Given the description of an element on the screen output the (x, y) to click on. 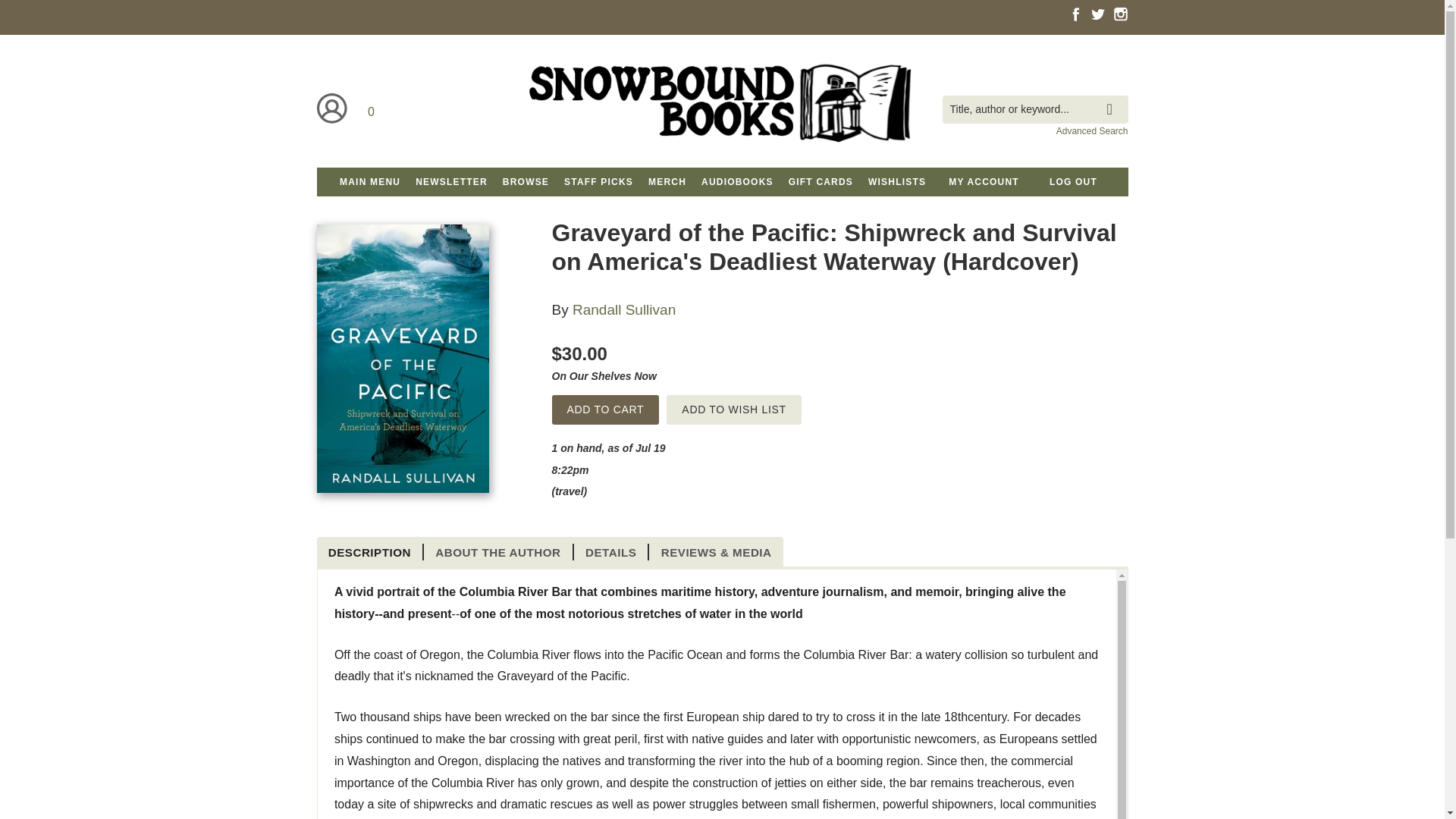
Title, author or keyword... (1034, 109)
MAIN MENU (369, 181)
BROWSE (525, 181)
MERCH (667, 181)
search (1112, 97)
NEWSLETTER (451, 181)
search (1112, 97)
Curated Lists by SB Staff (525, 181)
Advanced Search (1092, 131)
Add to Cart (605, 409)
STAFF PICKS (598, 181)
Home (721, 109)
